Given the description of an element on the screen output the (x, y) to click on. 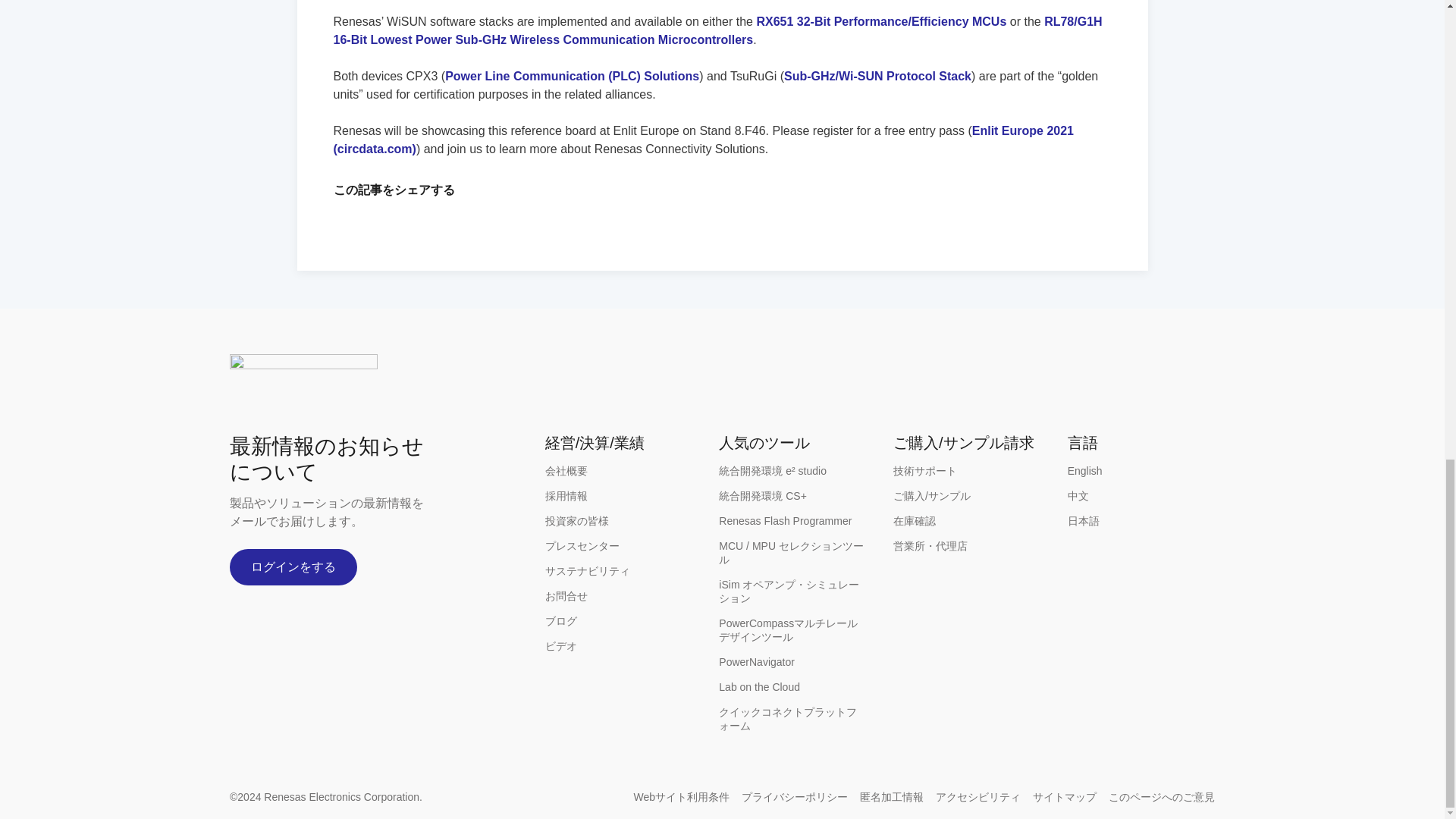
Lowest Power Sub-GHz Wireless Communication Microcontrollers (717, 30)
